Given the description of an element on the screen output the (x, y) to click on. 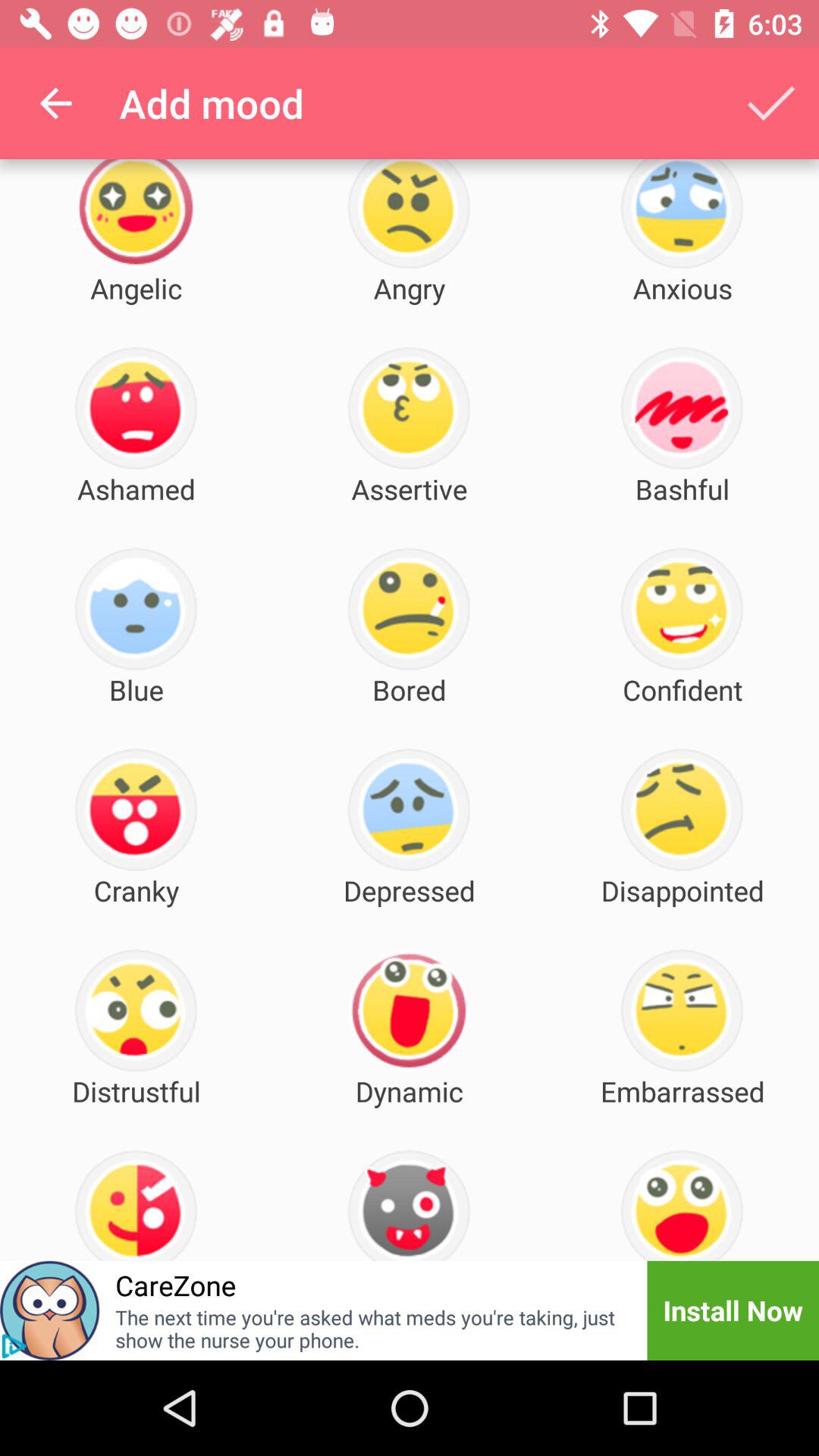
choose item to the left of add mood icon (55, 103)
